Given the description of an element on the screen output the (x, y) to click on. 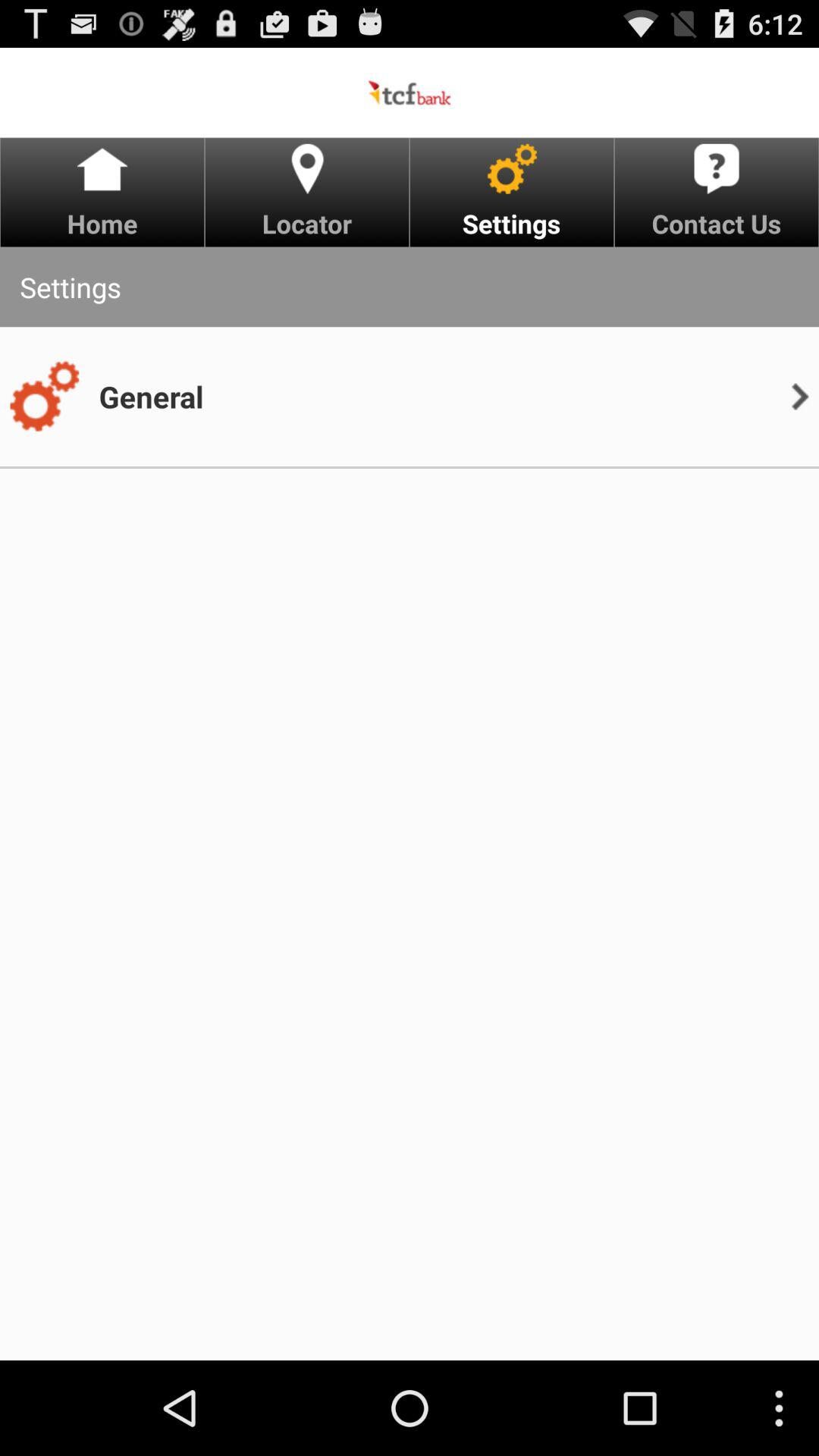
tap item next to the general (799, 396)
